Given the description of an element on the screen output the (x, y) to click on. 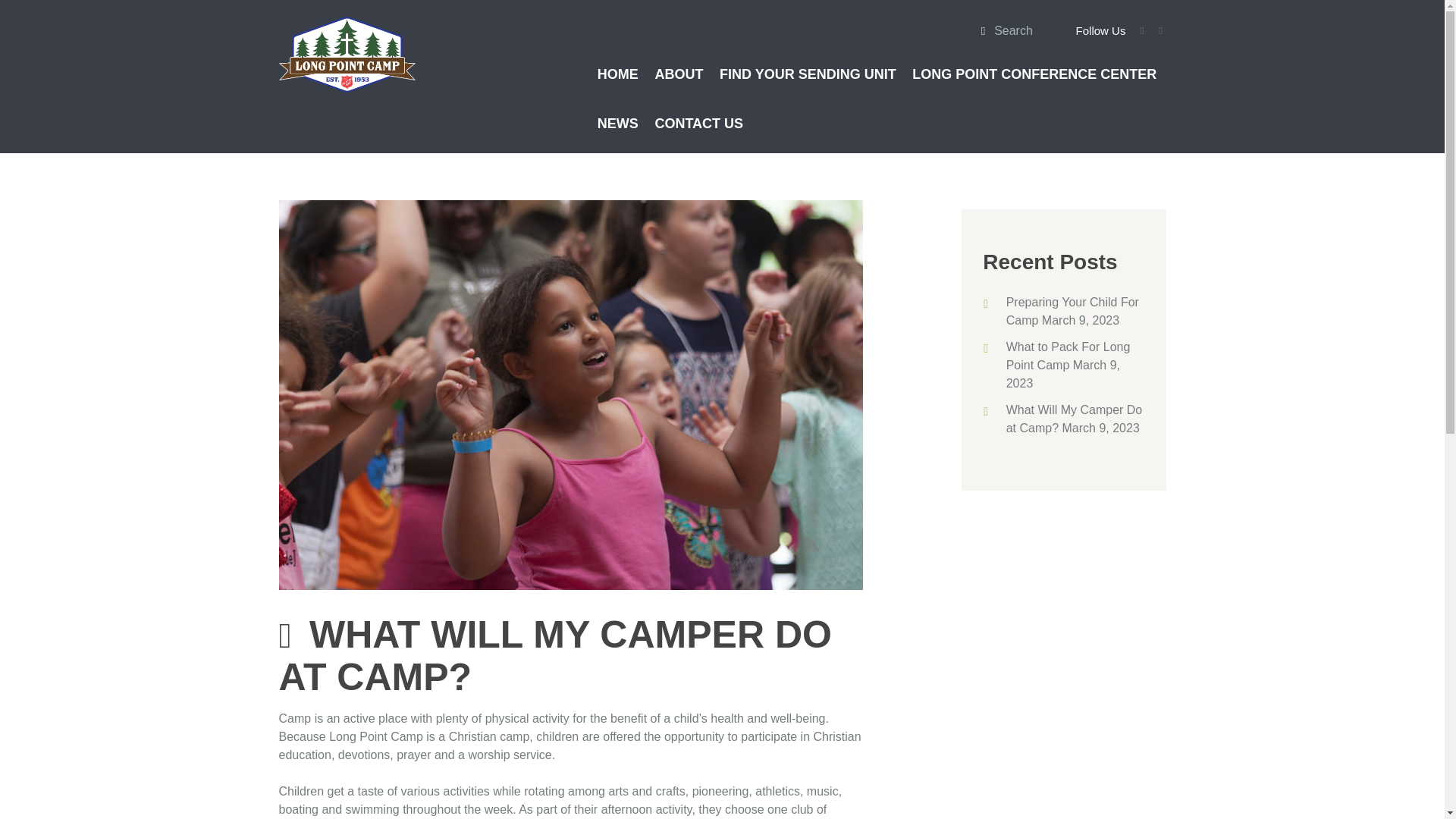
Preparing Your Child For Camp (1072, 310)
Start search (978, 30)
FIND YOUR SENDING UNIT (807, 73)
ABOUT (678, 73)
HOME (617, 73)
CONTACT US (698, 123)
LONG POINT CONFERENCE CENTER (1034, 73)
NEWS (617, 123)
